Given the description of an element on the screen output the (x, y) to click on. 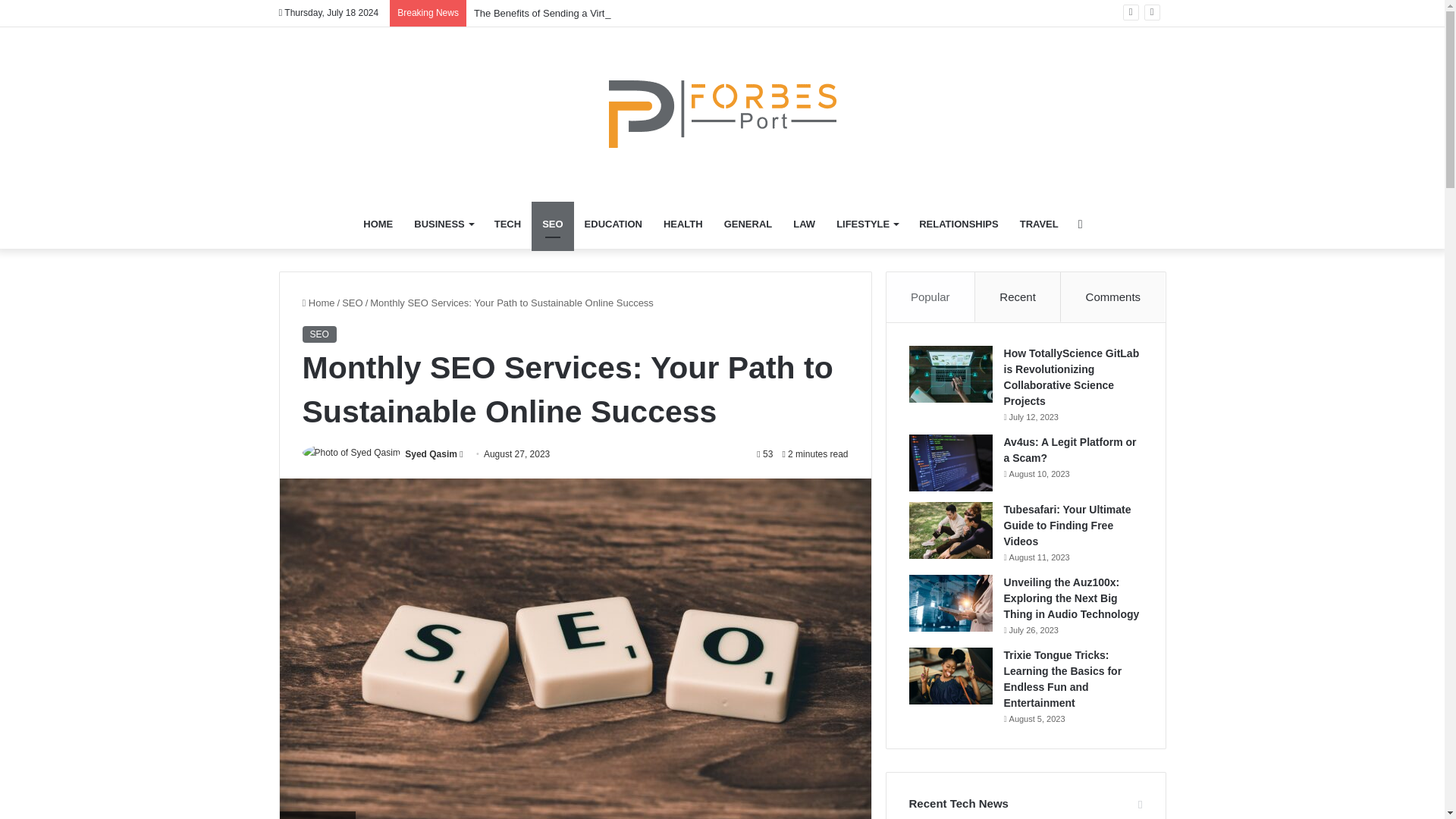
EDUCATION (612, 224)
LAW (804, 224)
GENERAL (748, 224)
TRAVEL (1038, 224)
Syed Qasim (430, 453)
RELATIONSHIPS (958, 224)
HOME (377, 224)
Home (317, 302)
SEO (552, 224)
TECH (507, 224)
HEALTH (682, 224)
SEO (318, 334)
LIFESTYLE (866, 224)
Know Everything (721, 114)
